Given the description of an element on the screen output the (x, y) to click on. 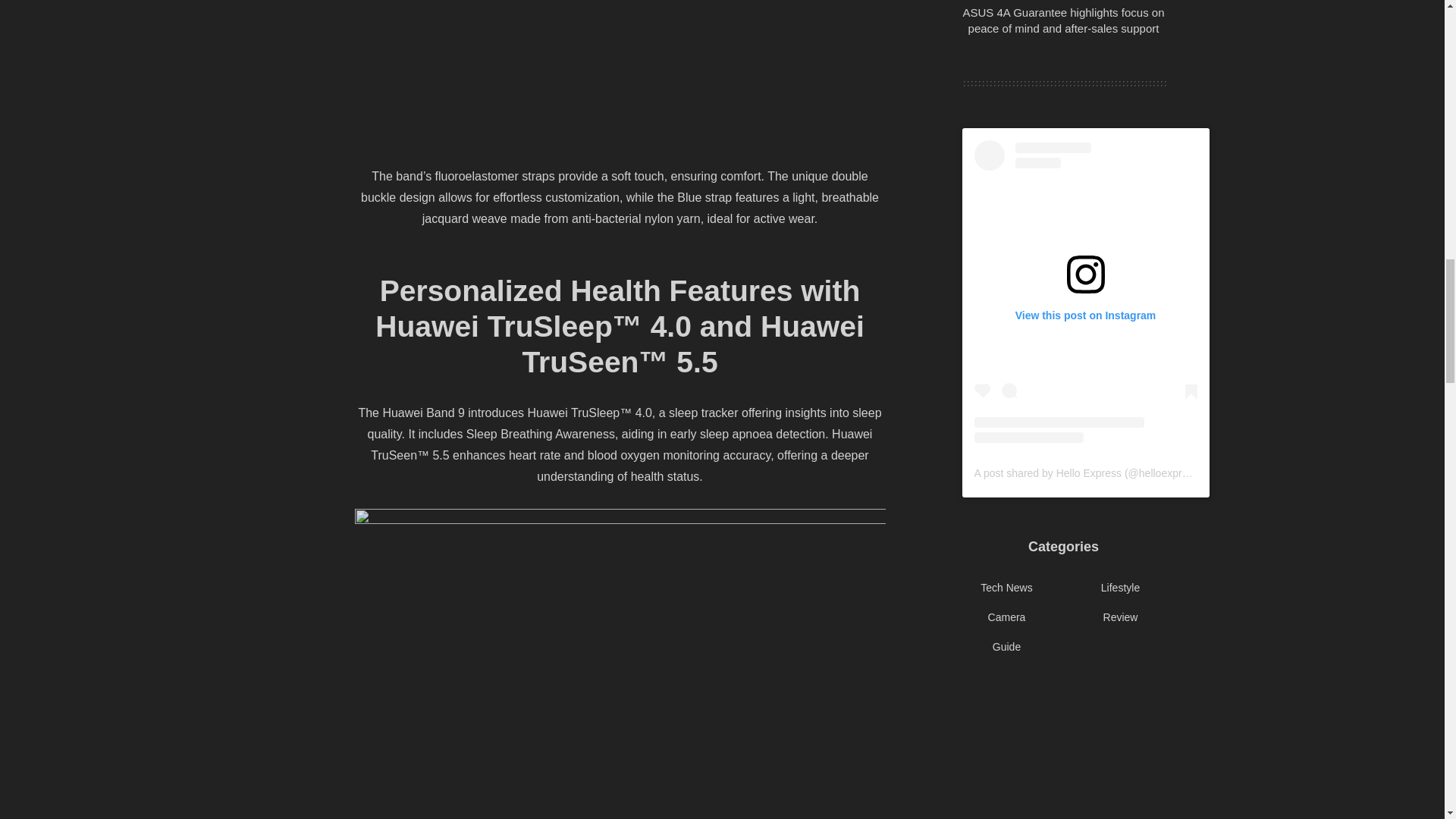
 Review (1120, 617)
 Tech News (1005, 587)
 Camera (1007, 617)
 Guide (1006, 646)
 Lifestyle (1120, 587)
